Given the description of an element on the screen output the (x, y) to click on. 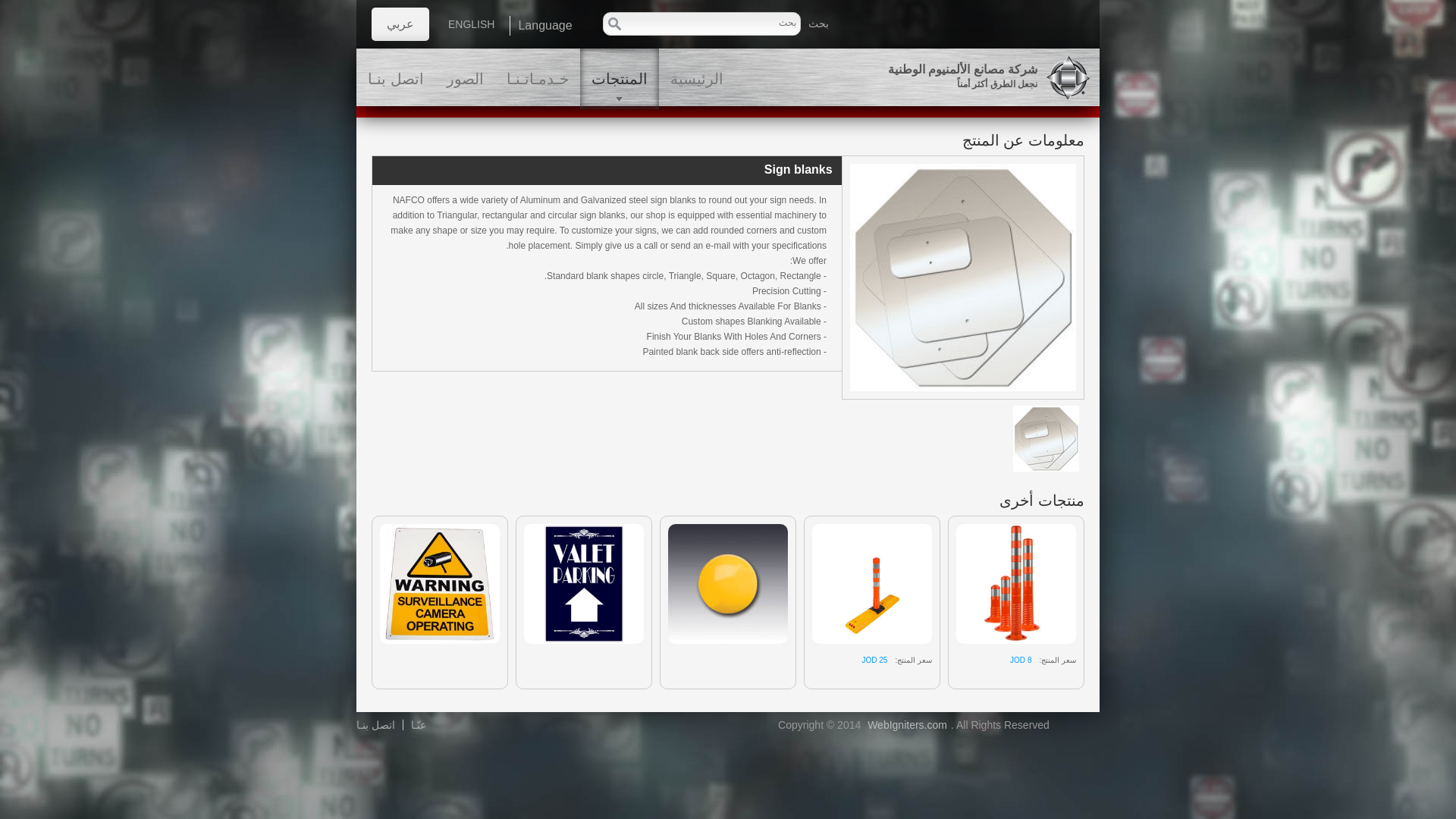
ENGLISH (470, 23)
WebIgniters.com (906, 725)
